Given the description of an element on the screen output the (x, y) to click on. 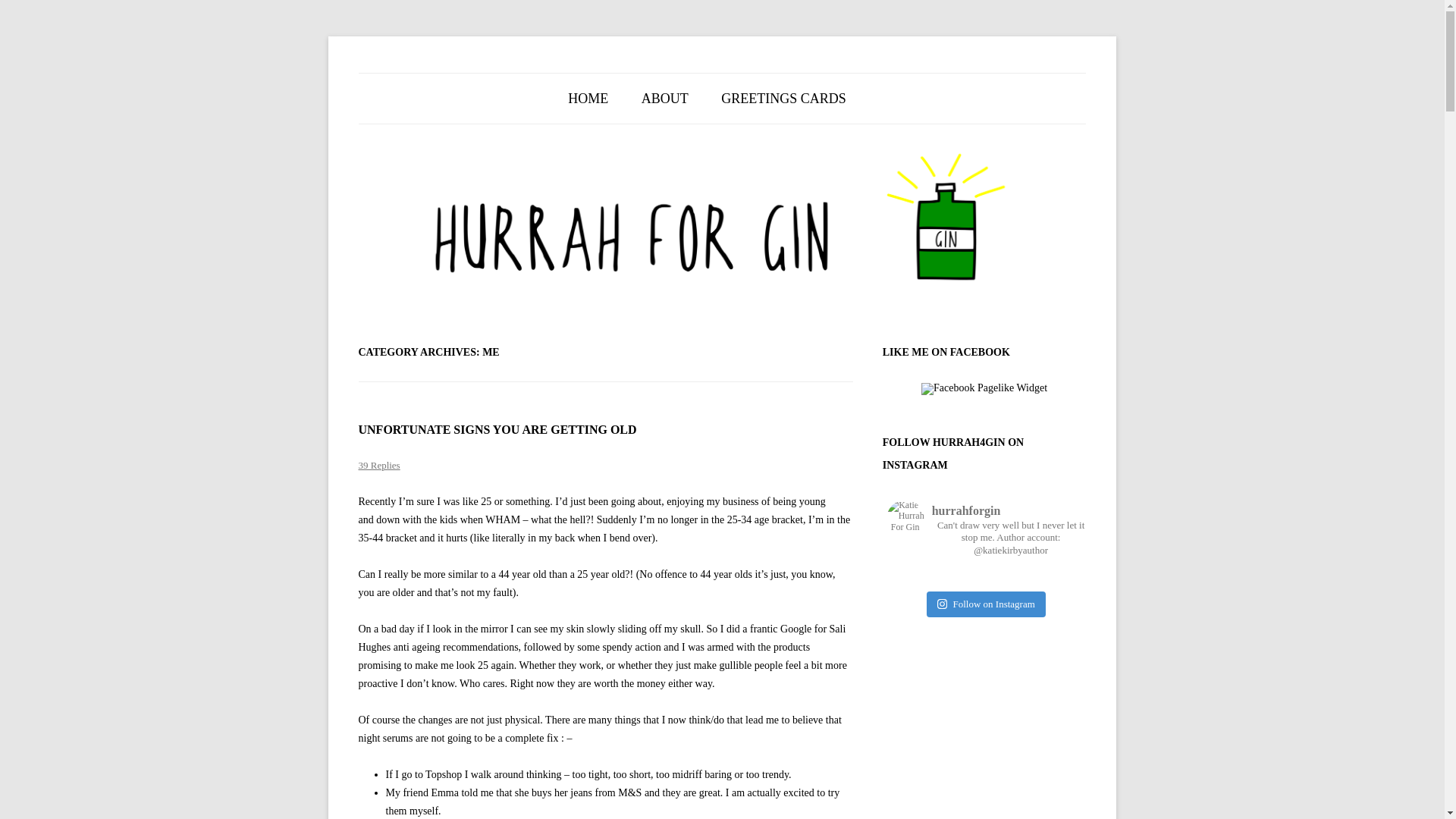
39 Replies (378, 464)
UNFORTUNATE SIGNS YOU ARE GETTING OLD (497, 429)
Skip to content (754, 77)
ABOUT (665, 98)
Skip to content (754, 77)
GREETINGS CARDS (782, 98)
